Given the description of an element on the screen output the (x, y) to click on. 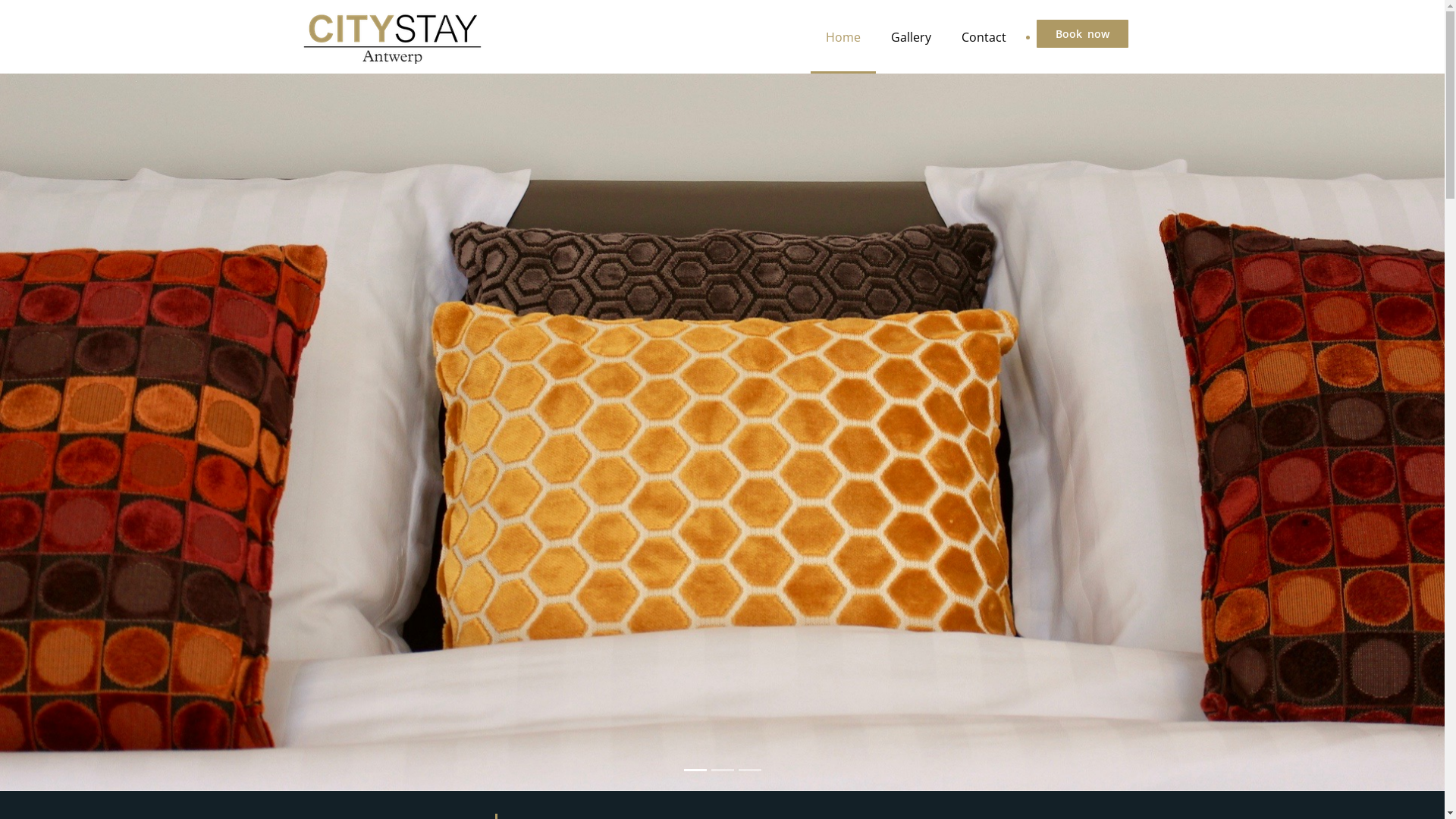
Home Element type: text (842, 36)
Contact Element type: text (983, 36)
Book now Element type: text (1081, 33)
Gallery Element type: text (910, 36)
